Given the description of an element on the screen output the (x, y) to click on. 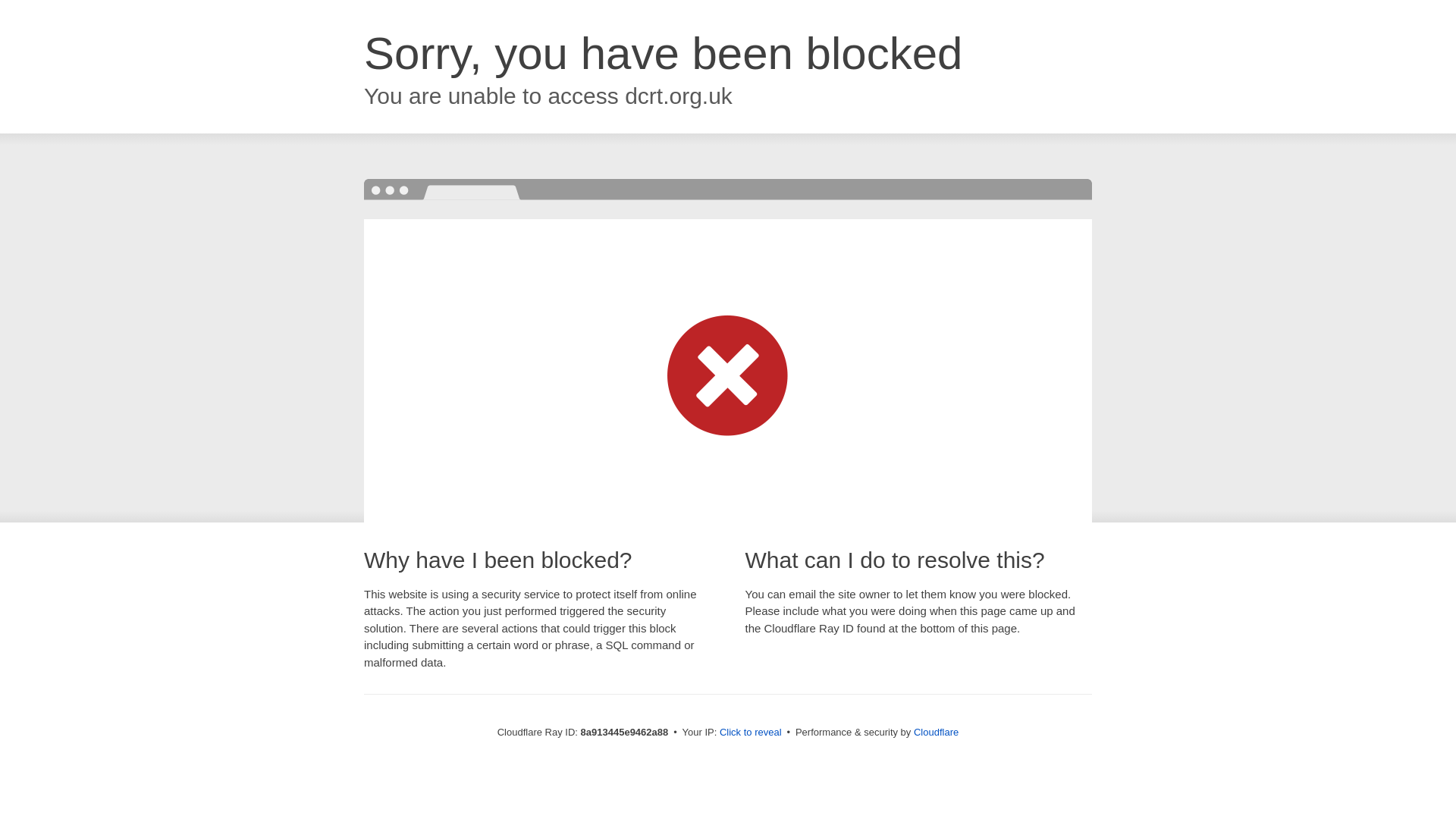
Click to reveal (750, 732)
Cloudflare (936, 731)
